Given the description of an element on the screen output the (x, y) to click on. 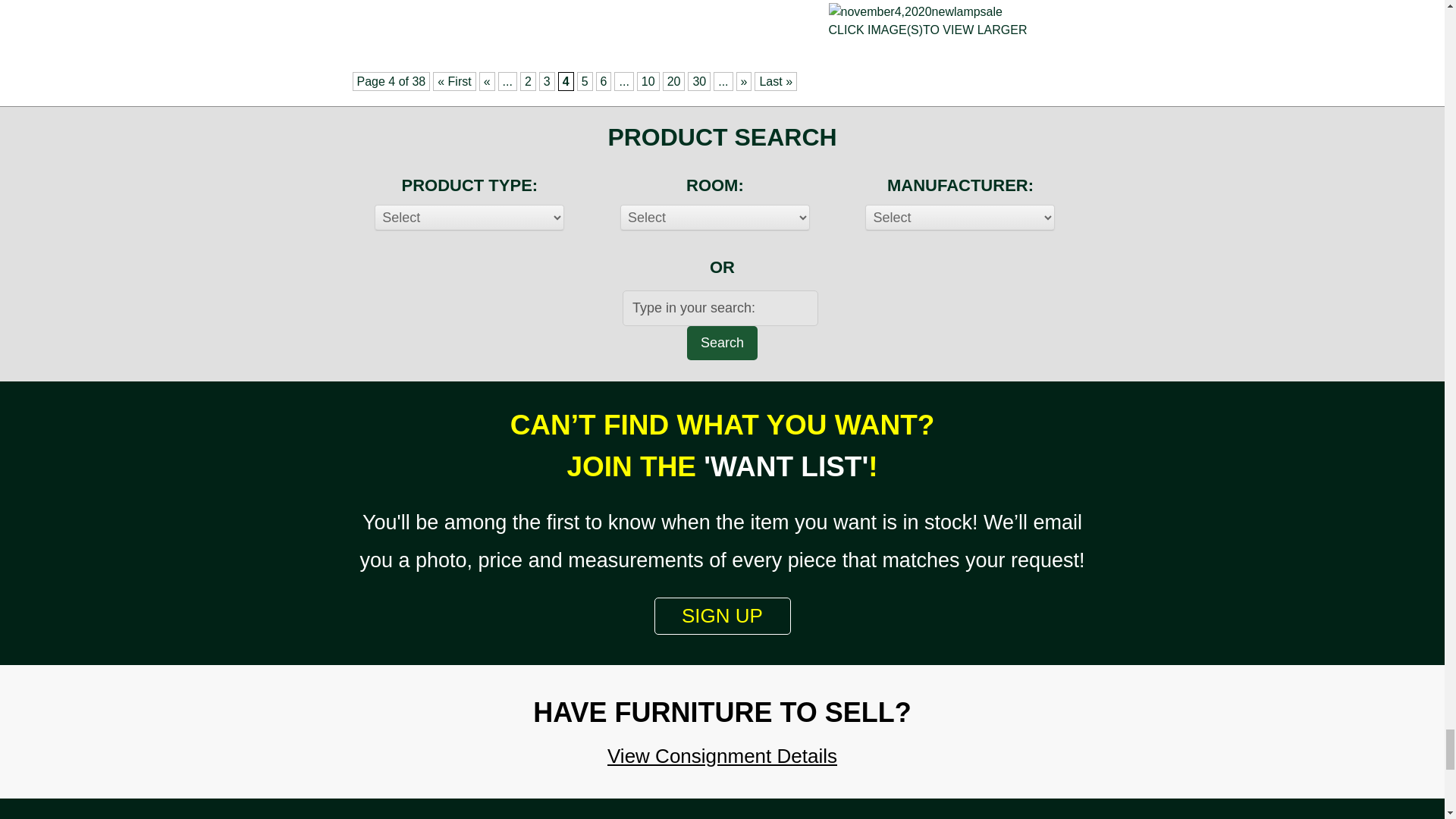
Page 20 (673, 81)
Search (722, 342)
Page 30 (698, 81)
Page 10 (648, 81)
